Given the description of an element on the screen output the (x, y) to click on. 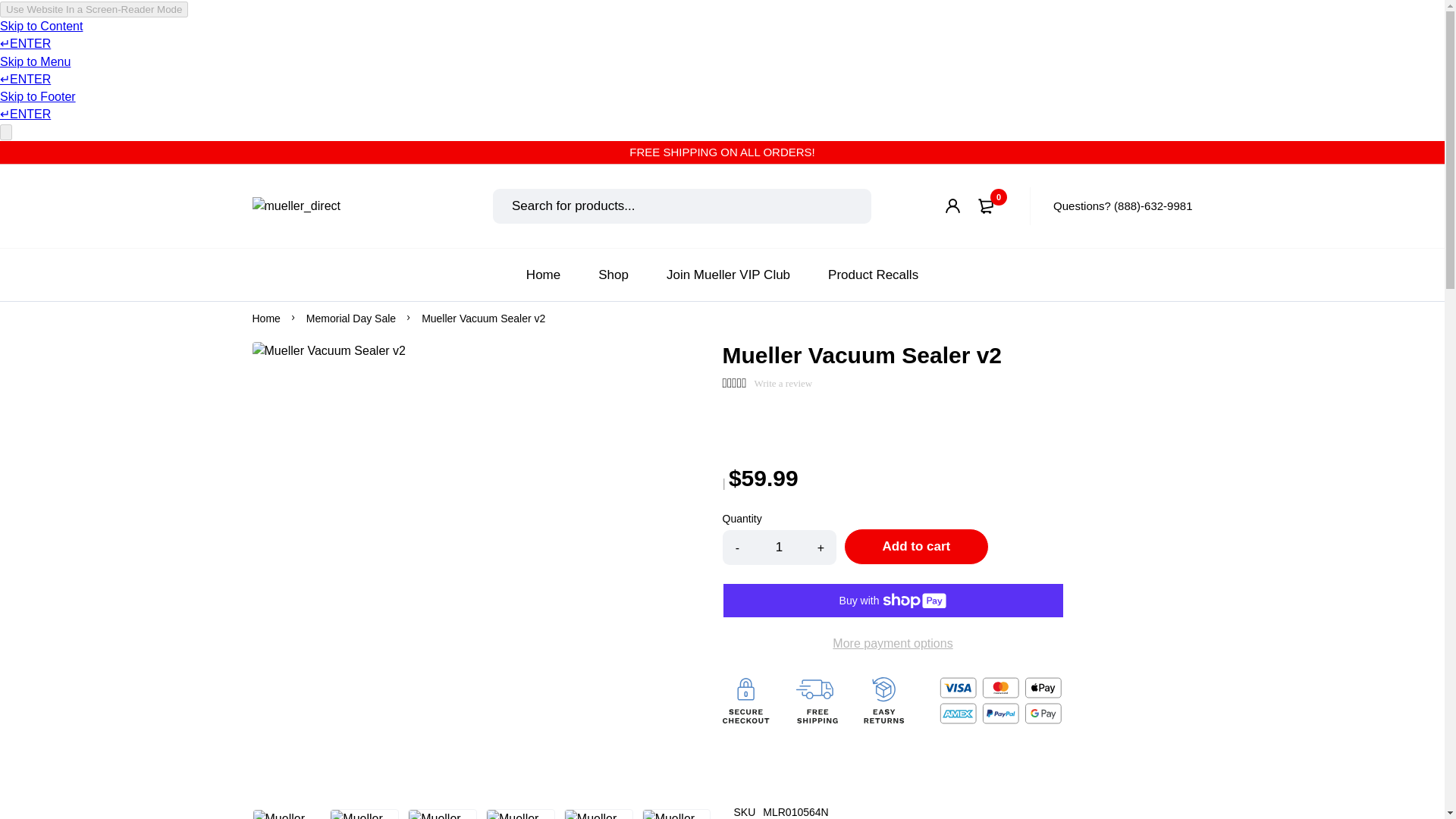
More payment options (892, 643)
Product Recalls (873, 273)
- (737, 547)
Write a review (783, 383)
Shop (613, 273)
0 (988, 206)
Memorial Day Sale (350, 318)
Join Mueller VIP Club (728, 273)
Home (265, 318)
Add to cart (915, 546)
Mueller Vacuum Sealer v2 (483, 318)
1 (778, 547)
Home (542, 273)
